Given the description of an element on the screen output the (x, y) to click on. 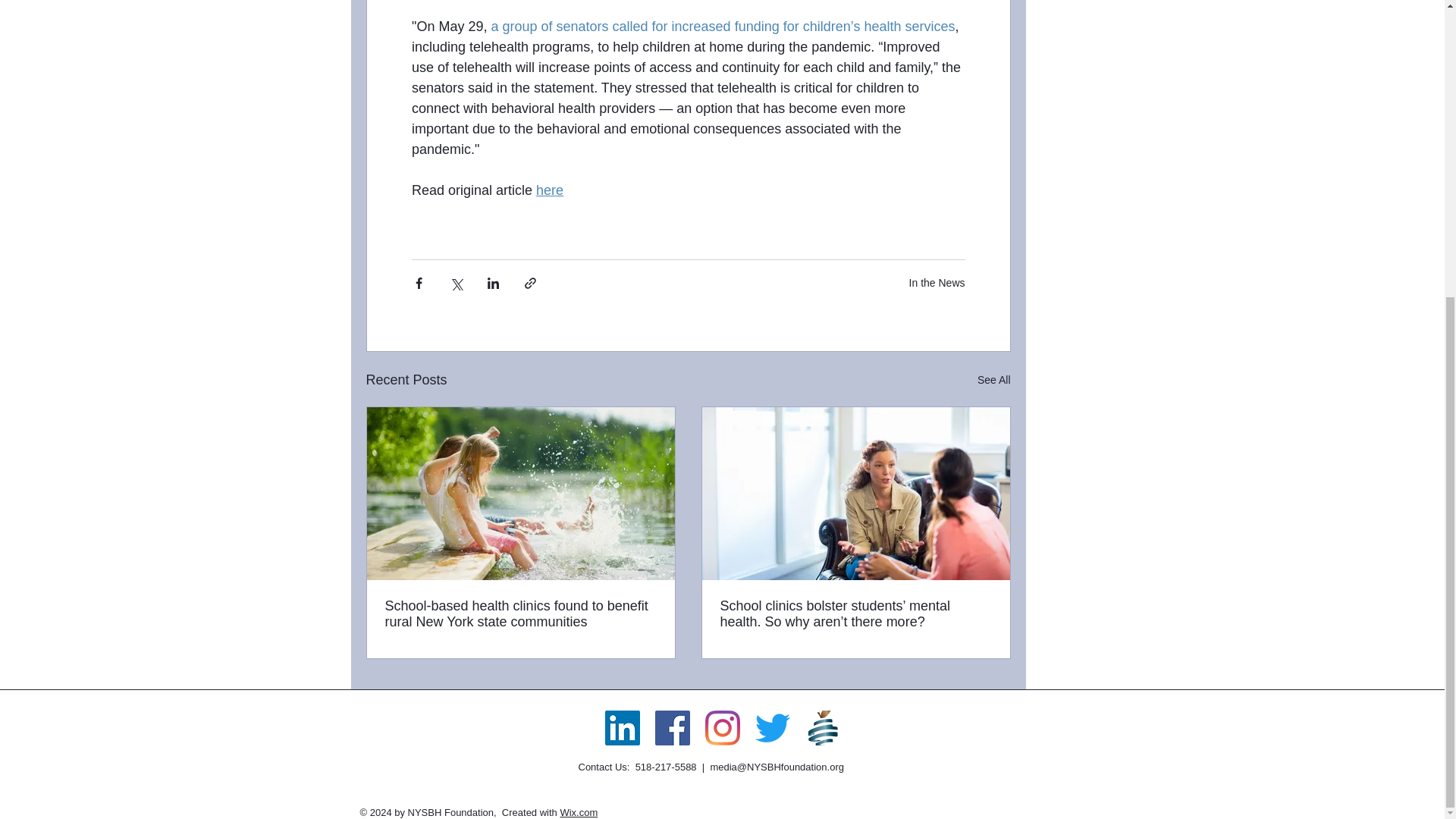
here (549, 190)
In the News (936, 282)
See All (993, 380)
